Given the description of an element on the screen output the (x, y) to click on. 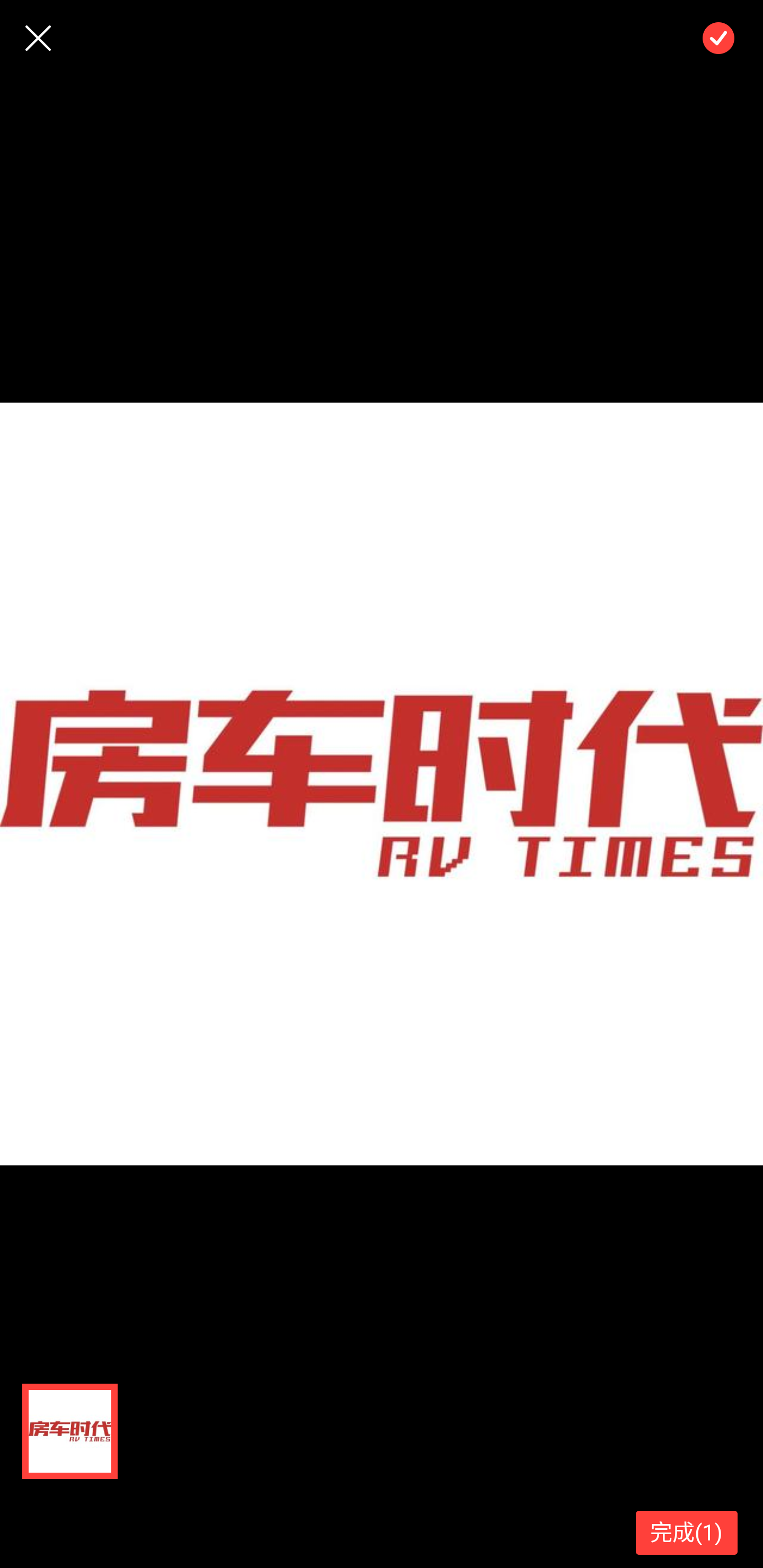
返回 (38, 38)
完成 (1) (686, 1533)
